Given the description of an element on the screen output the (x, y) to click on. 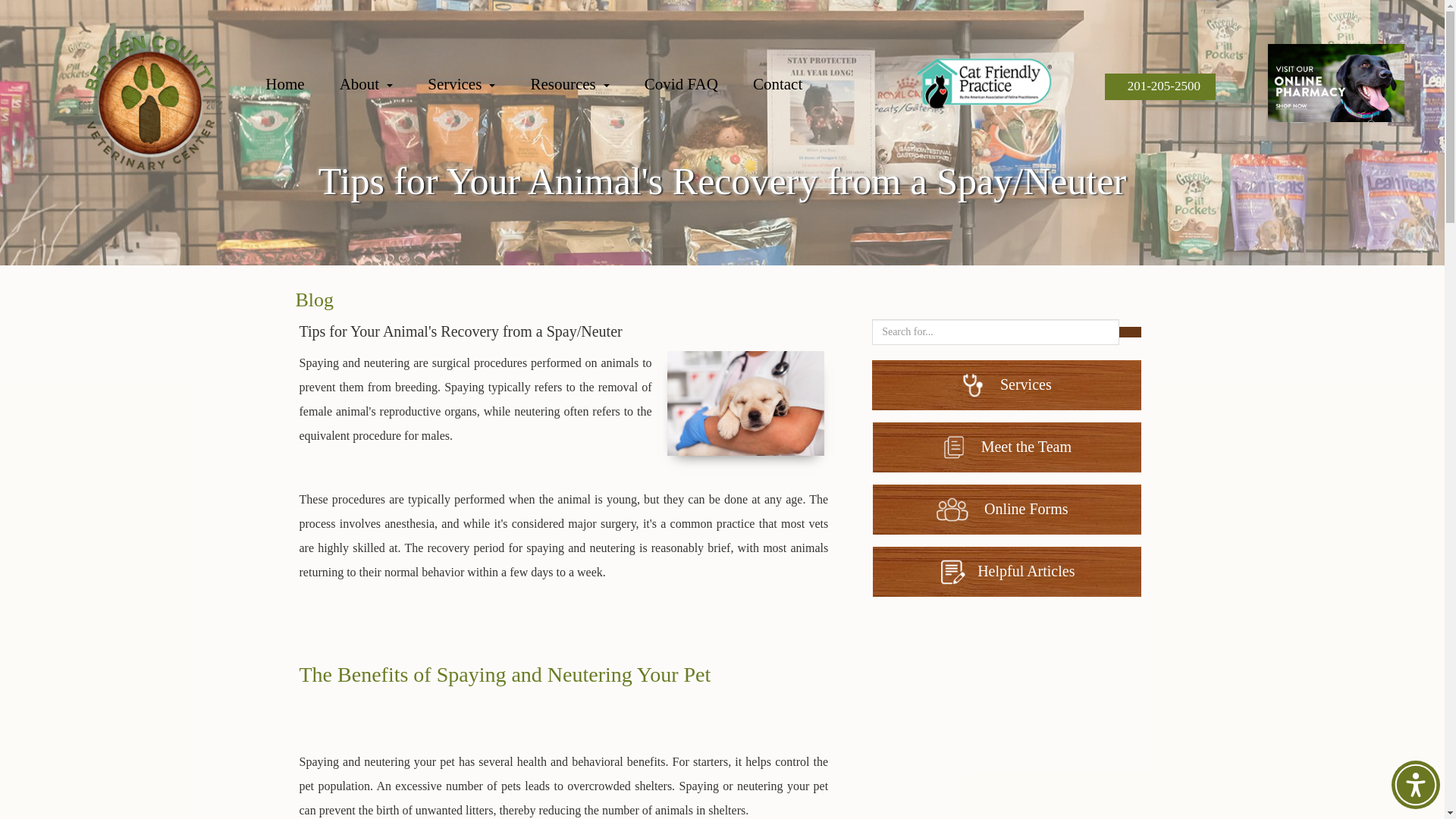
Call: 201-205-2500 (1160, 86)
Covid FAQ (698, 88)
201-205-2500 (1160, 86)
Contact (793, 88)
Services (478, 88)
About (382, 88)
Home (300, 88)
Accessibility Menu (1415, 784)
Resources (585, 88)
